Given the description of an element on the screen output the (x, y) to click on. 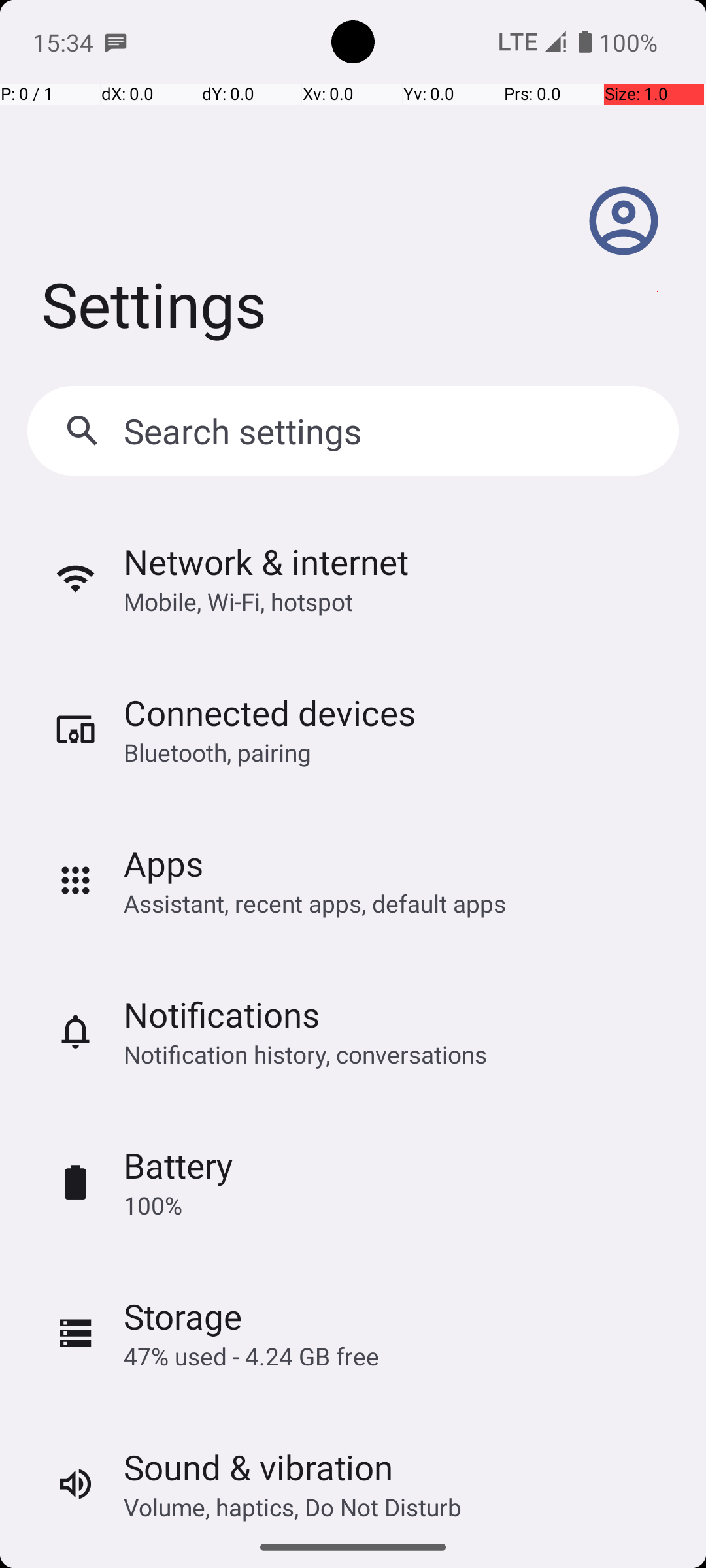
47% used - 4.24 GB free Element type: android.widget.TextView (251, 1355)
